Given the description of an element on the screen output the (x, y) to click on. 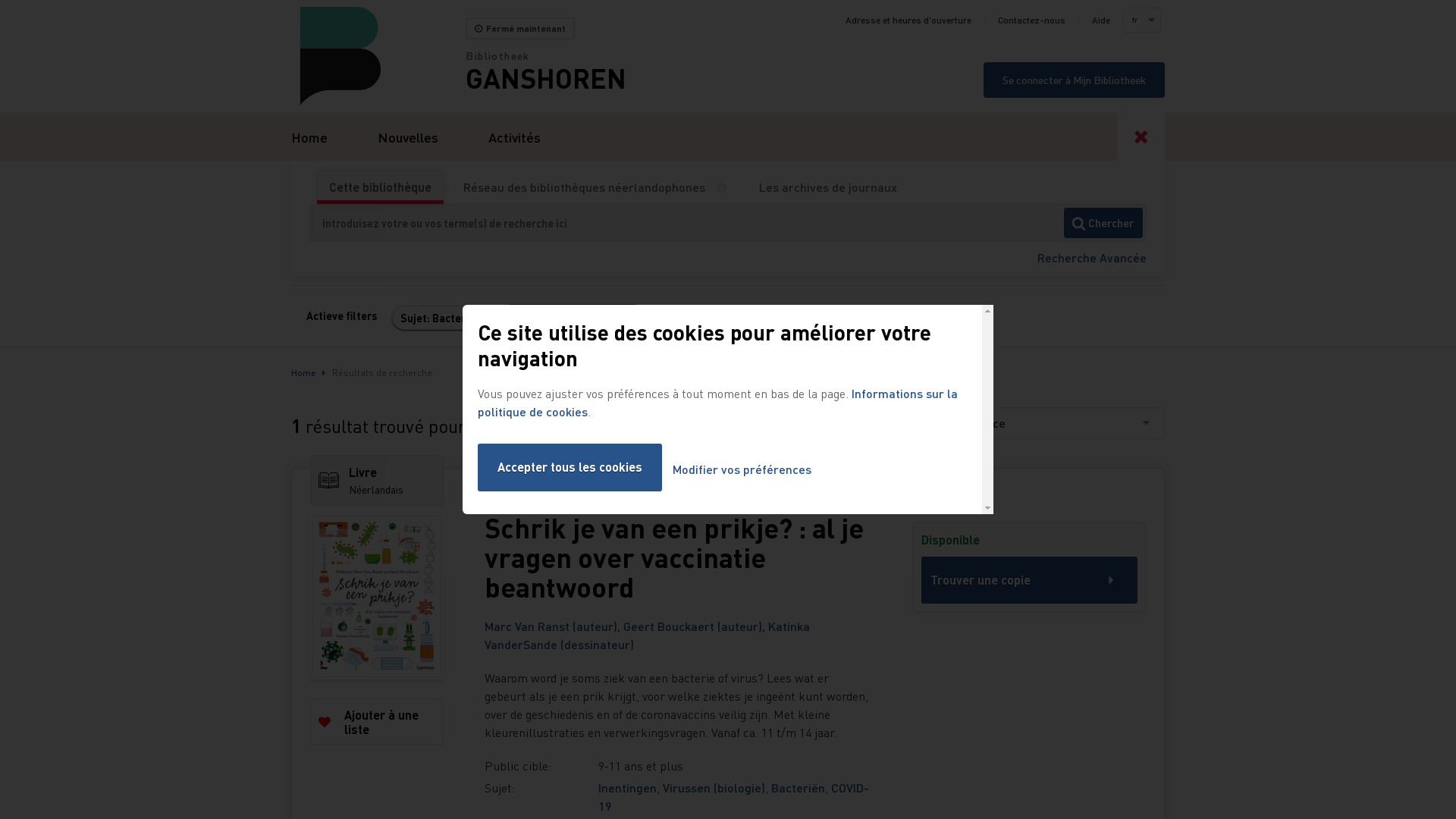
Aide Element type: text (1101, 20)
Adresse et heures d'ouverture Element type: text (908, 20)
Effacer tous les filtres Element type: text (572, 317)
Accepter tous les cookies Element type: text (569, 466)
Marc Van Ranst (auteur), Element type: text (553, 625)
Informations sur la politique de cookies Element type: text (717, 402)
Plus d'information Element type: hover (727, 186)
Les archives de journaux Element type: text (827, 186)
Pertinence Element type: text (1050, 423)
Home Element type: hover (378, 55)
Trouver une copie Element type: text (1029, 579)
Chercher Element type: text (1102, 222)
Inentingen Element type: text (627, 787)
Virussen (biologie) Element type: text (713, 787)
Home Element type: text (303, 372)
Home Element type: text (309, 136)
Contactez-nous Element type: text (1031, 20)
COVID-19 Element type: text (733, 796)
fr Element type: text (1140, 20)
Skip to search Element type: text (0, 0)
Katinka VanderSande (dessinateur) Element type: text (646, 635)
Nouvelles Element type: text (407, 136)
Toggle search Element type: hover (1140, 136)
Geert Bouckaert (auteur), Element type: text (695, 625)
